Given the description of an element on the screen output the (x, y) to click on. 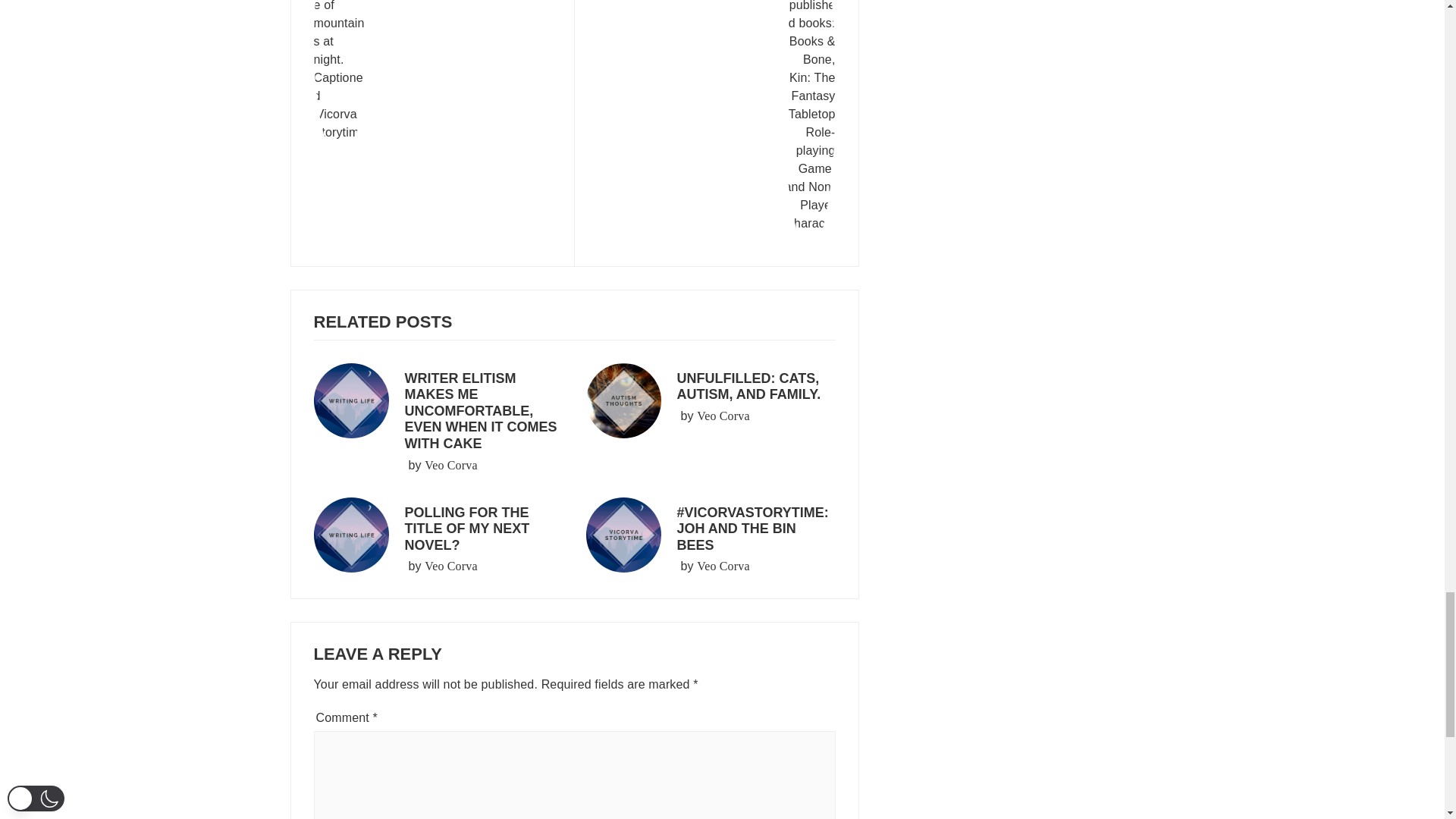
Veo Corva (451, 566)
Veo Corva (451, 465)
UNFULFILLED: CATS, AUTISM, AND FAMILY. (749, 386)
Veo Corva (723, 566)
Veo Corva (715, 125)
POLLING FOR THE TITLE OF MY NEXT NOVEL? (723, 416)
